Given the description of an element on the screen output the (x, y) to click on. 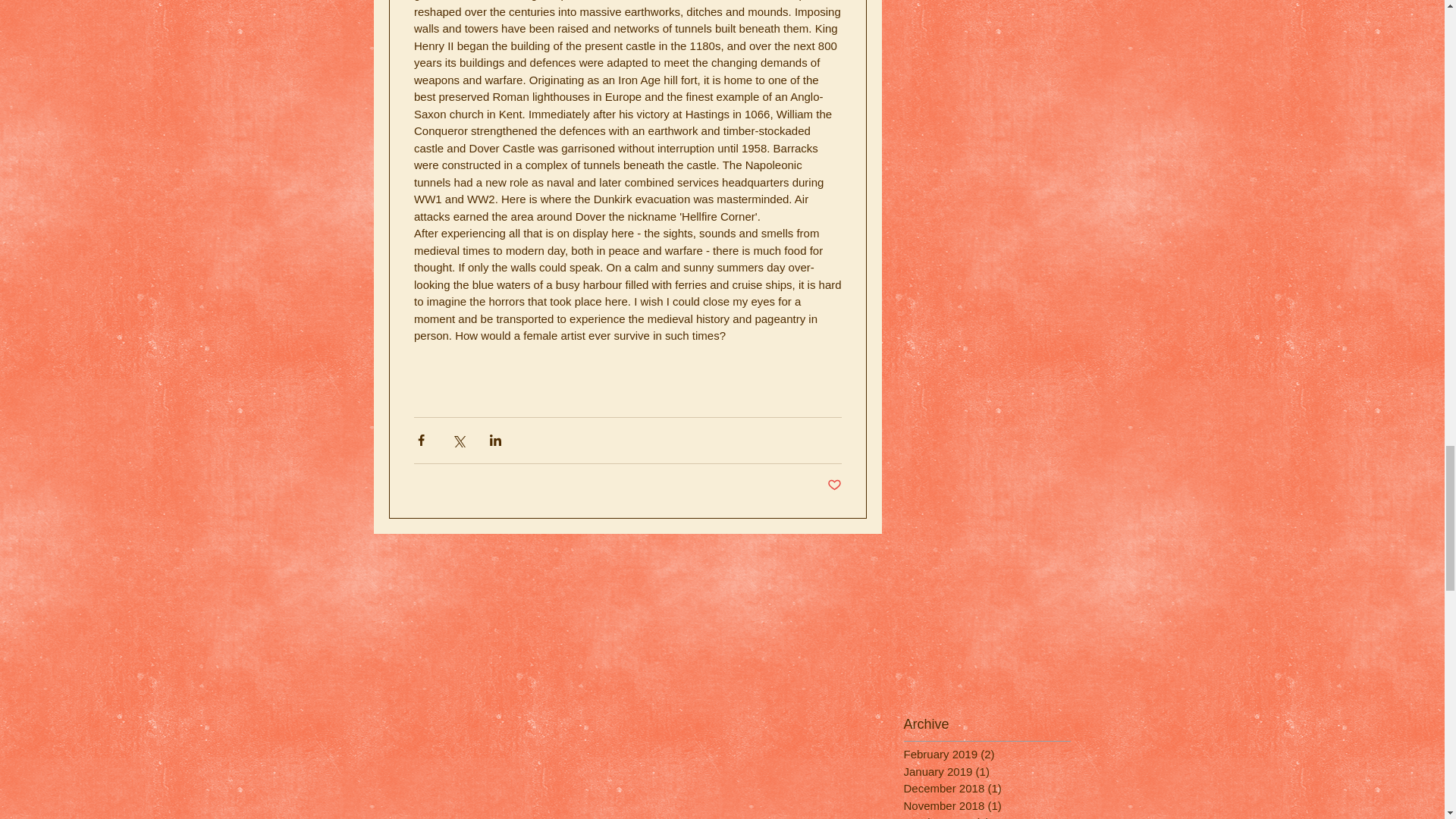
Post not marked as liked (834, 485)
